Given the description of an element on the screen output the (x, y) to click on. 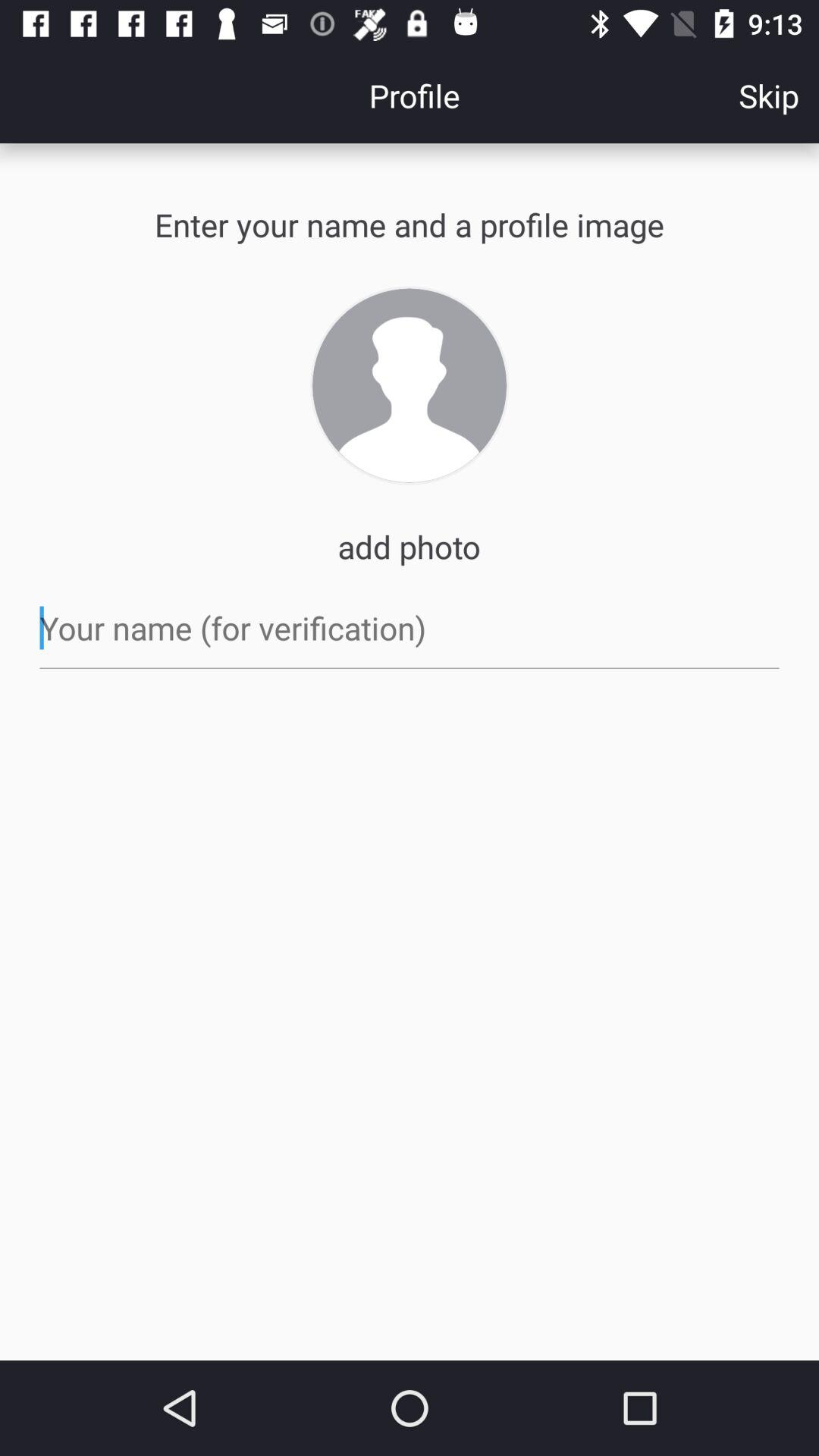
upload photo (409, 385)
